Given the description of an element on the screen output the (x, y) to click on. 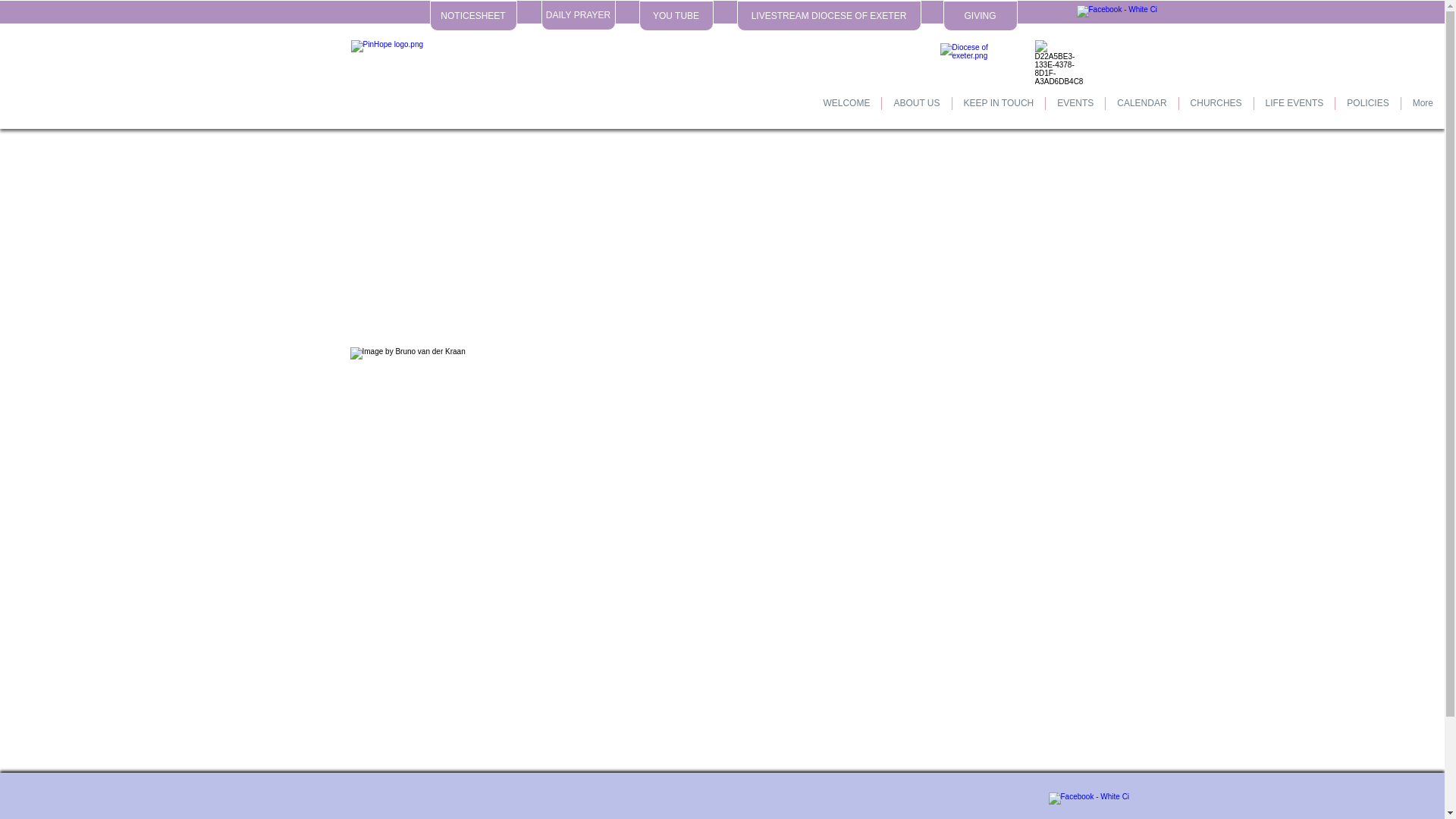
YOU TUBE (676, 15)
NOTICESHEET (472, 15)
CALENDAR (1141, 112)
DAILY PRAYER (578, 15)
WELCOME (845, 112)
EVENTS (1075, 112)
LIVESTREAM DIOCESE OF EXETER (828, 15)
GIVING (980, 15)
